Given the description of an element on the screen output the (x, y) to click on. 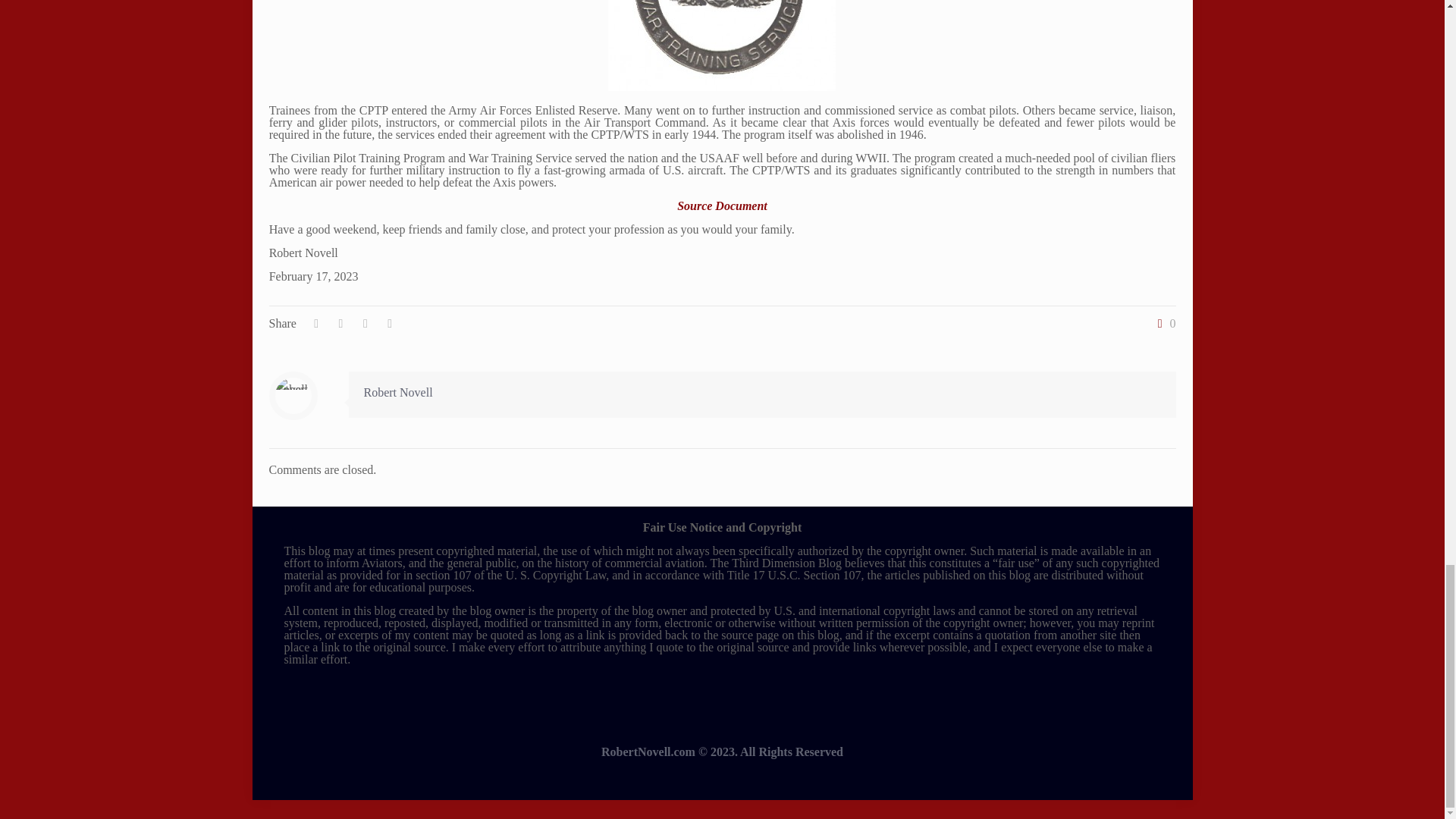
0 (1162, 323)
Robert Novell (398, 391)
Source Document (722, 205)
